Given the description of an element on the screen output the (x, y) to click on. 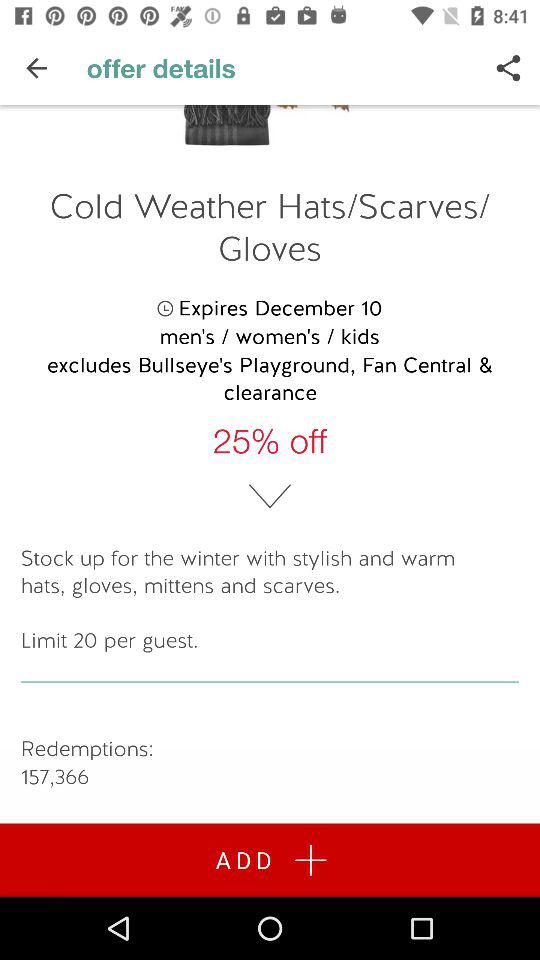
turn on icon to the left of offer details (36, 67)
